Given the description of an element on the screen output the (x, y) to click on. 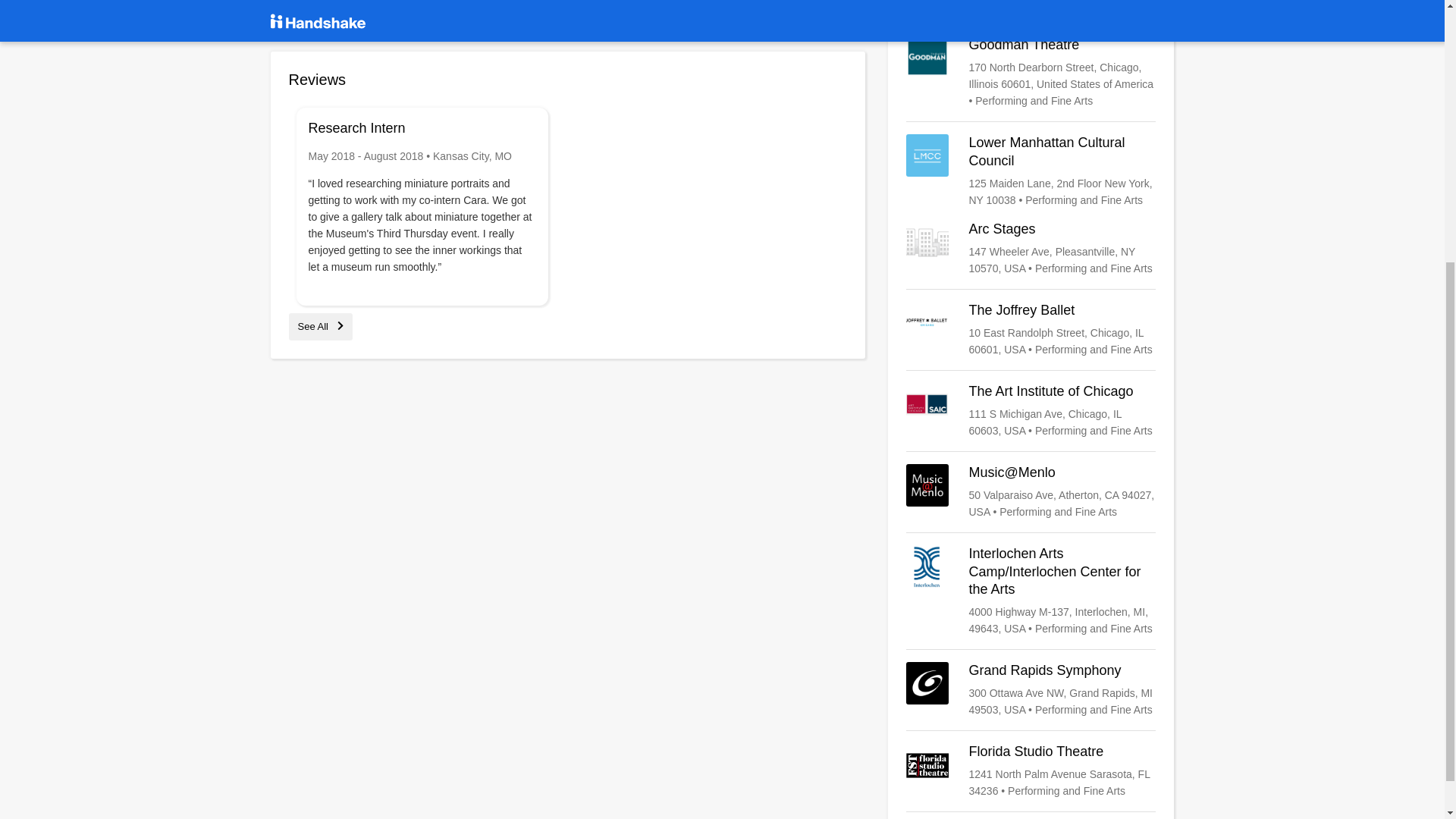
See All (320, 326)
The Joffrey Ballet (1030, 329)
Ann Arbor Summer Festival (1030, 5)
Goodman Theatre (1030, 72)
Arc Stages (1030, 248)
Florida Studio Theatre (1030, 770)
Lower Manhattan Cultural Council (1030, 171)
The Art Institute of Chicago (1030, 410)
Grand Rapids Symphony (1030, 689)
